Given the description of an element on the screen output the (x, y) to click on. 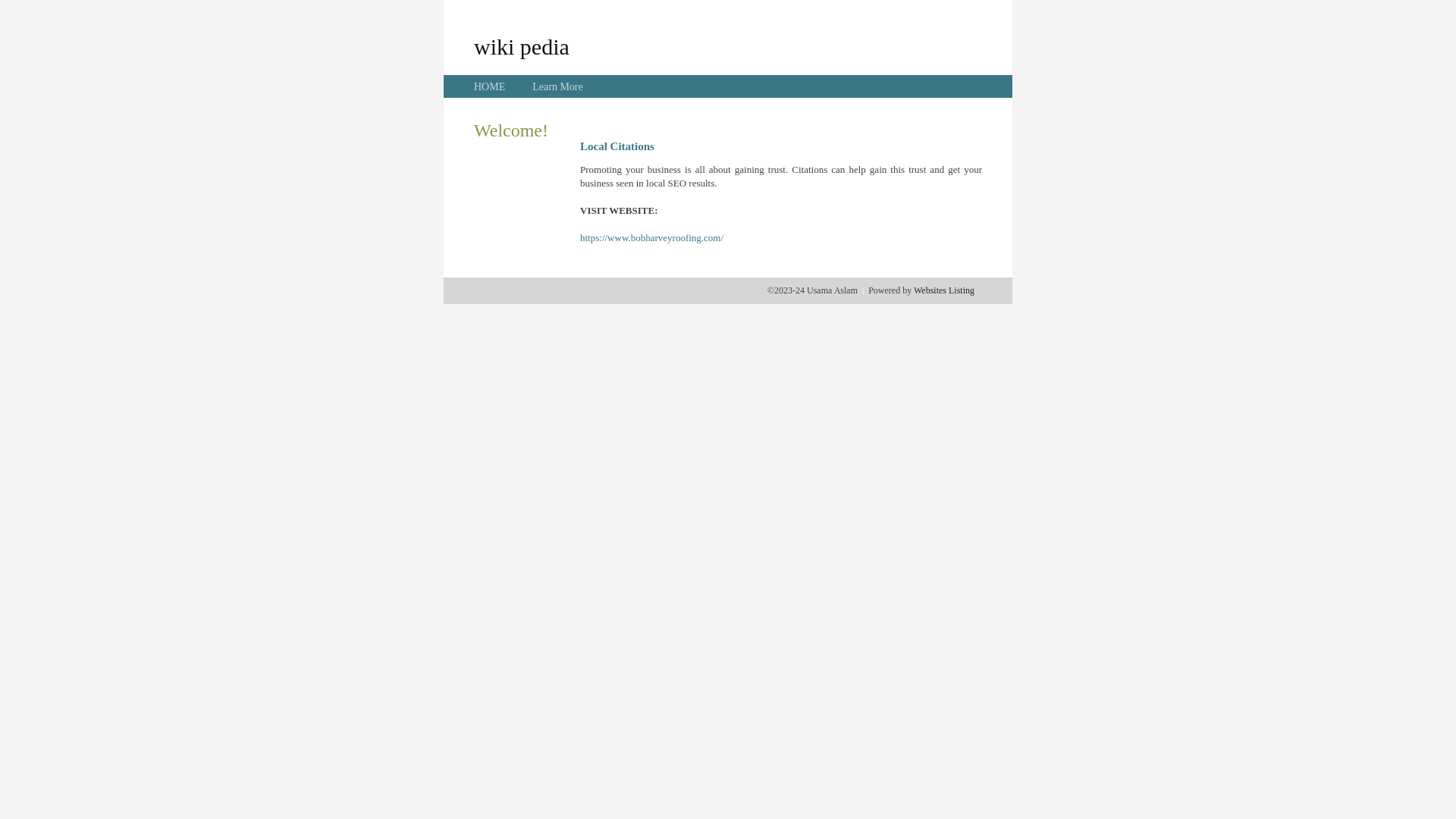
Learn More Element type: text (557, 86)
Websites Listing Element type: text (943, 290)
HOME Element type: text (489, 86)
wiki pedia Element type: text (521, 46)
https://www.bobharveyroofing.com/ Element type: text (651, 237)
